Given the description of an element on the screen output the (x, y) to click on. 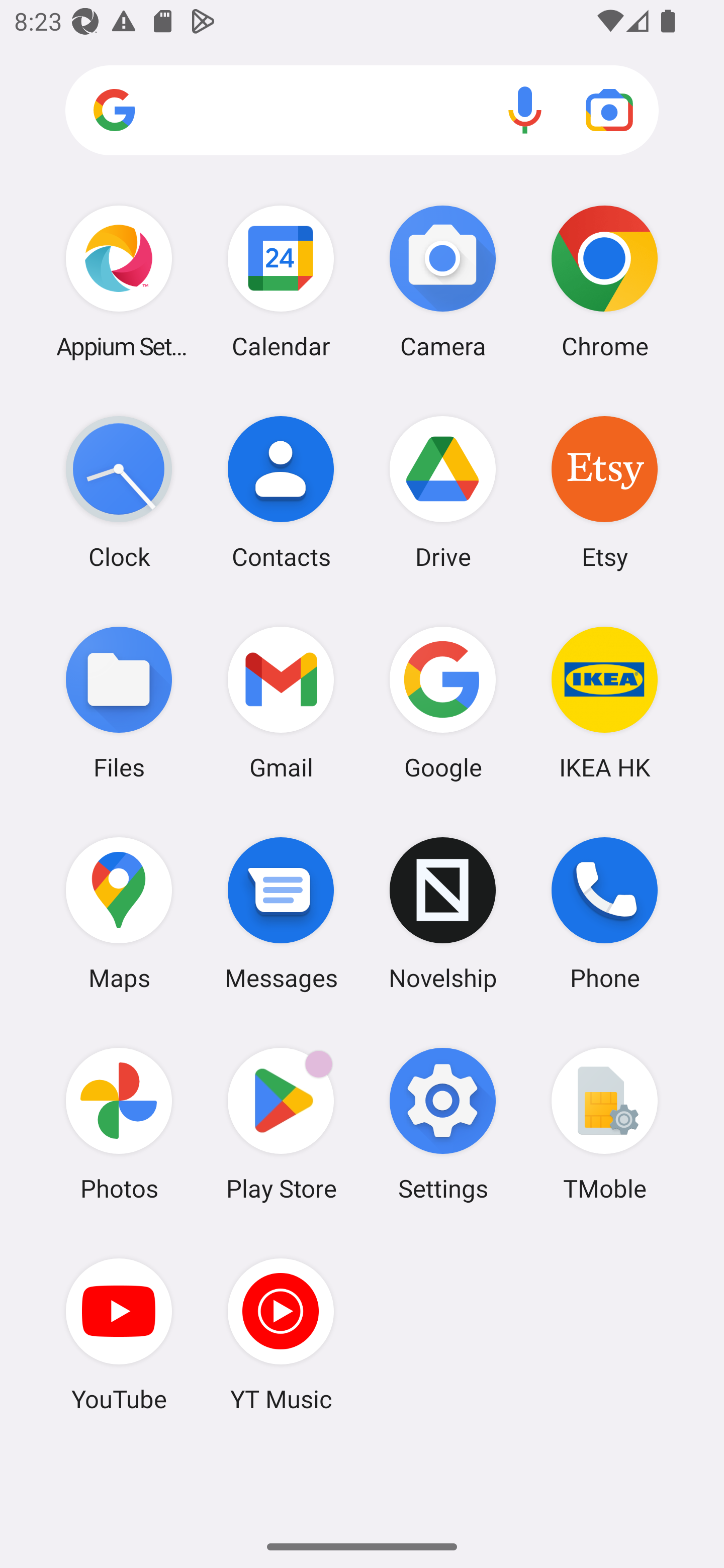
Search apps, web and more (361, 110)
Voice search (524, 109)
Google Lens (608, 109)
Appium Settings (118, 281)
Calendar (280, 281)
Camera (443, 281)
Chrome (604, 281)
Clock (118, 492)
Contacts (280, 492)
Drive (443, 492)
Etsy (604, 492)
Files (118, 702)
Gmail (280, 702)
Google (443, 702)
IKEA HK (604, 702)
Maps (118, 913)
Messages (280, 913)
Novelship (443, 913)
Phone (604, 913)
Photos (118, 1124)
Play Store Play Store has 1 notification (280, 1124)
Settings (443, 1124)
TMoble (604, 1124)
YouTube (118, 1334)
YT Music (280, 1334)
